Given the description of an element on the screen output the (x, y) to click on. 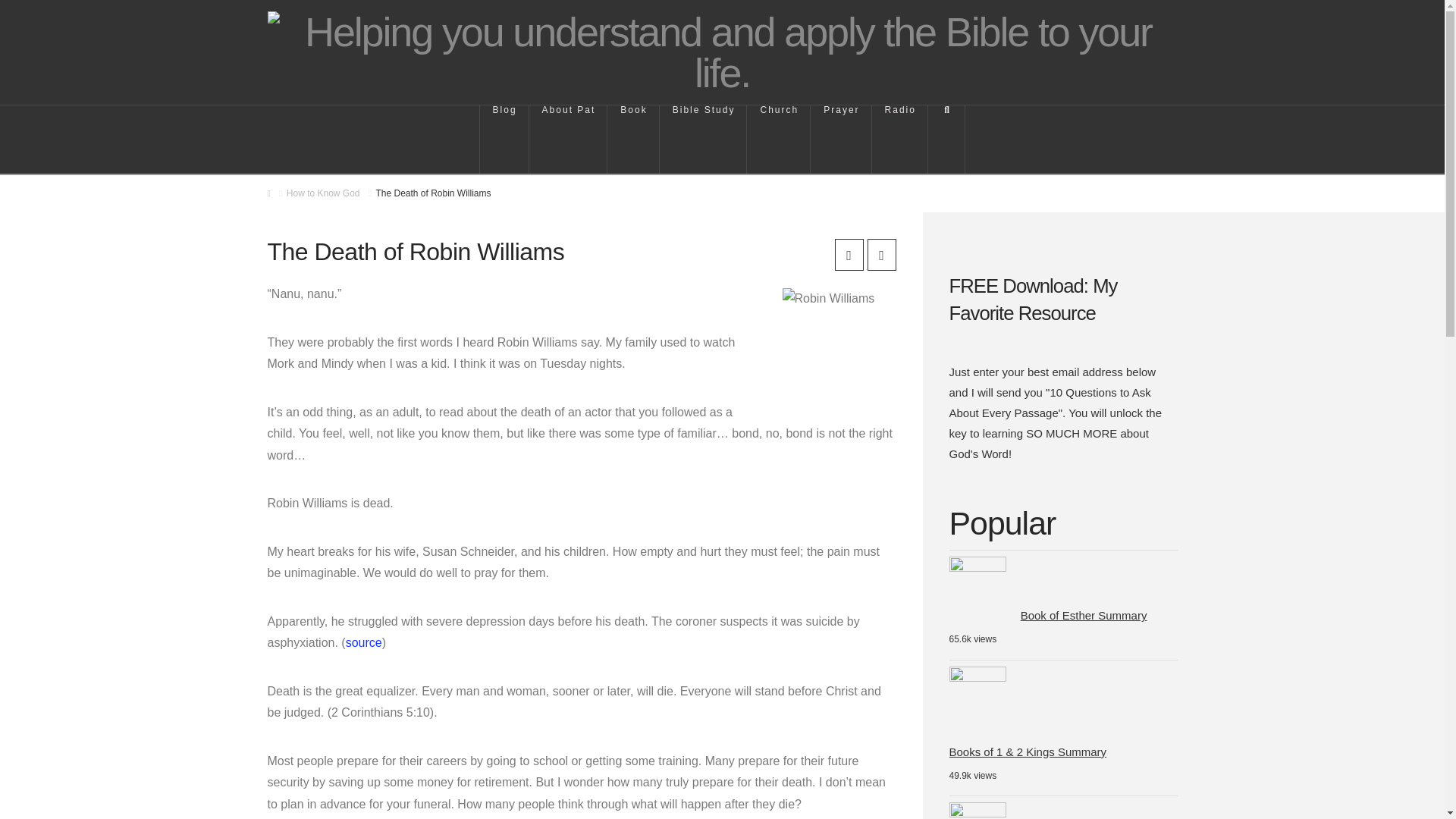
Bible Study (703, 139)
source (363, 642)
The Death of Robin Williams (432, 193)
How to Know God (322, 193)
Book of Esther Summary (1083, 614)
Church (778, 139)
You Are Here (432, 193)
About Pat (568, 139)
